Given the description of an element on the screen output the (x, y) to click on. 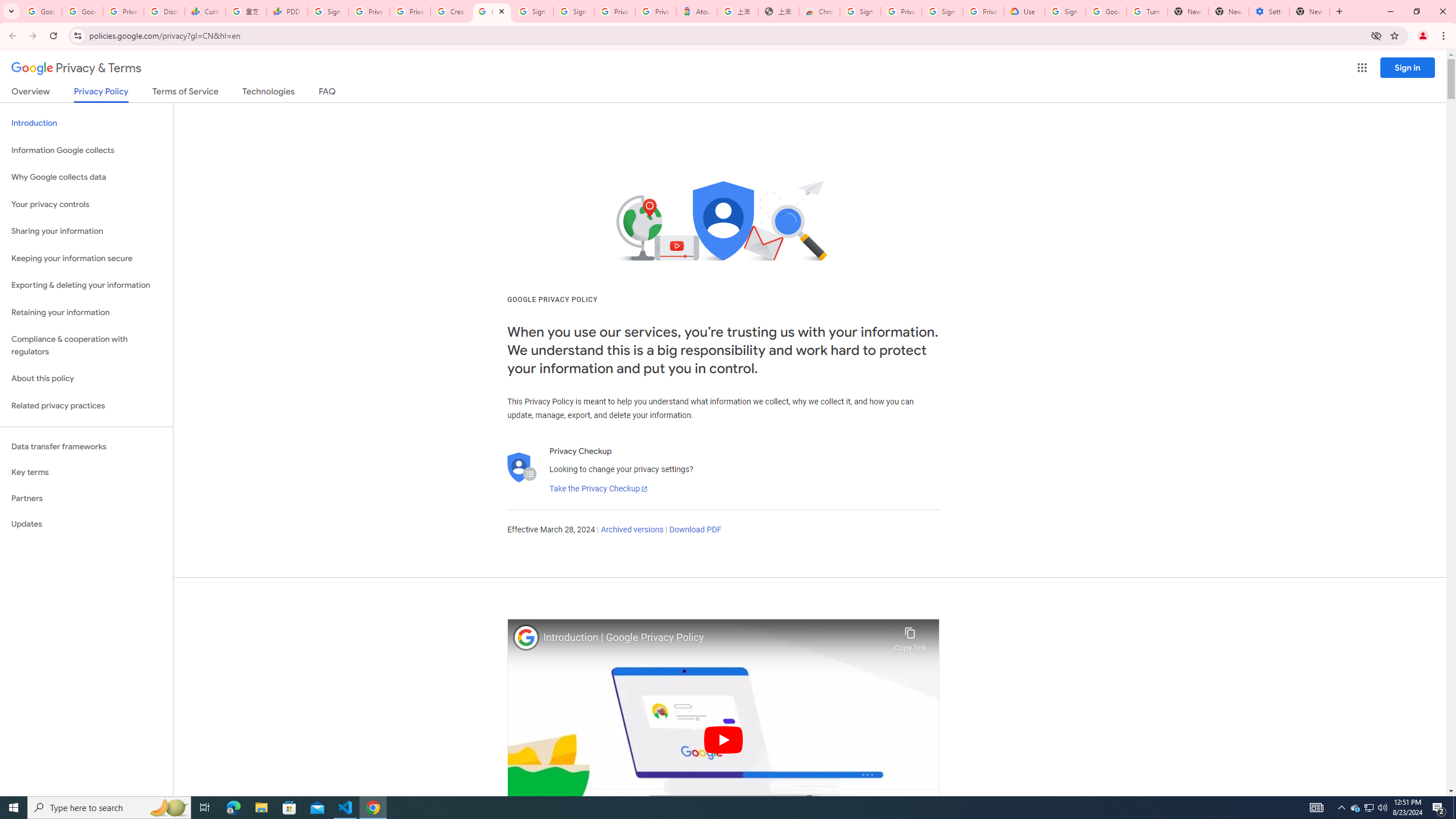
Sign in - Google Accounts (860, 11)
Atour Hotel - Google hotels (696, 11)
